Given the description of an element on the screen output the (x, y) to click on. 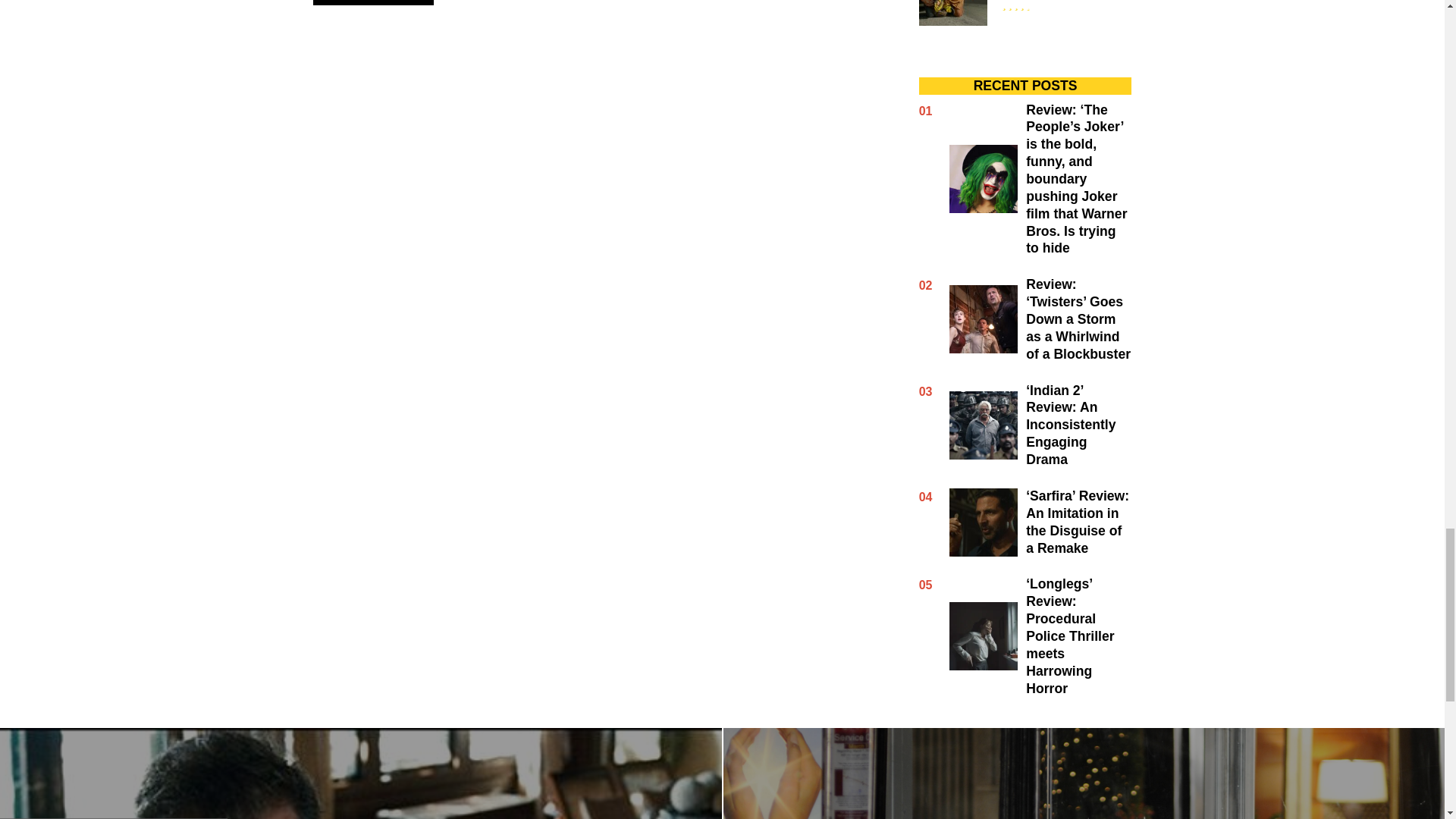
Post Comment (372, 2)
